Given the description of an element on the screen output the (x, y) to click on. 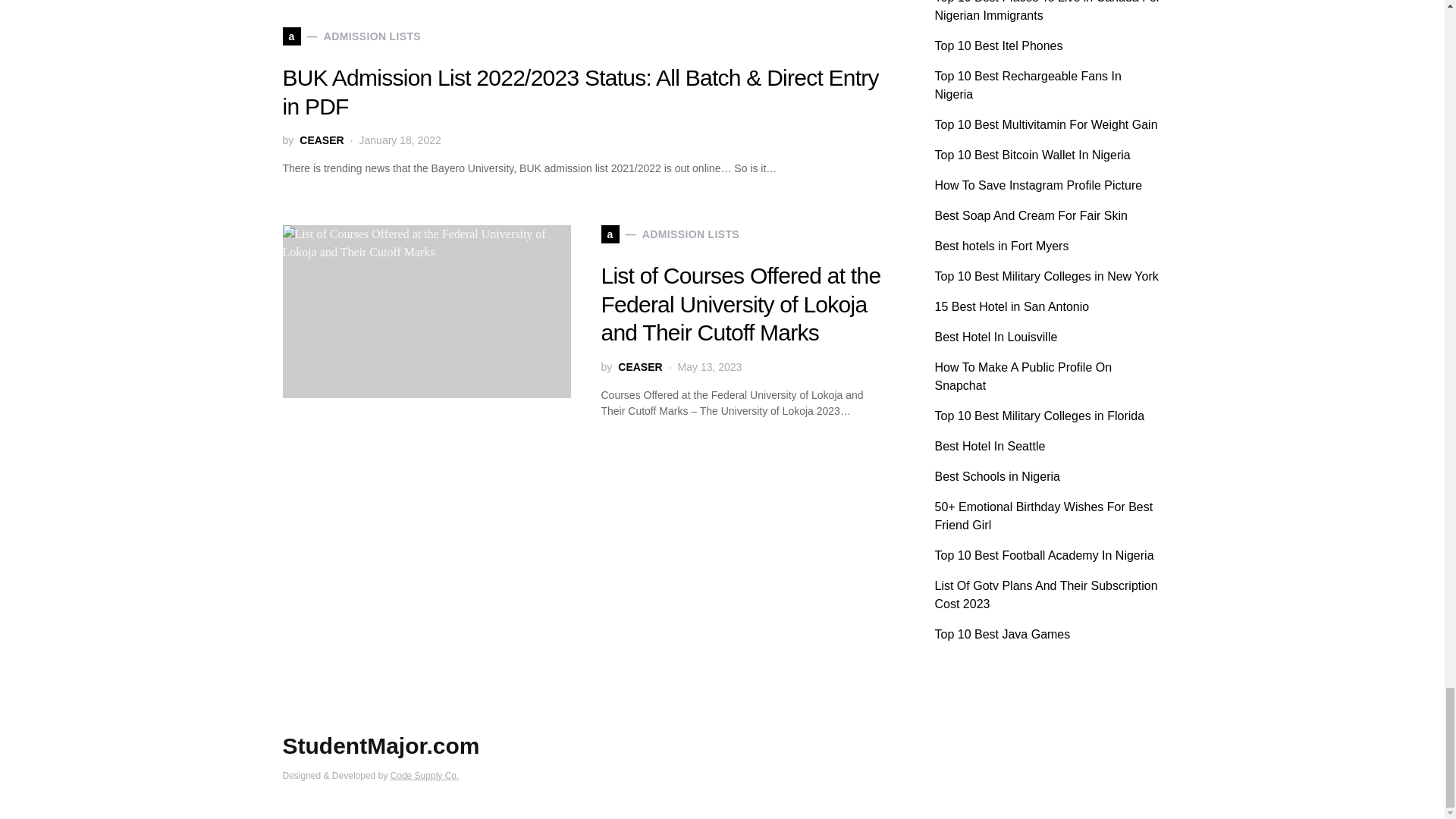
View all posts by CEASER (639, 366)
View all posts by CEASER (321, 140)
